Given the description of an element on the screen output the (x, y) to click on. 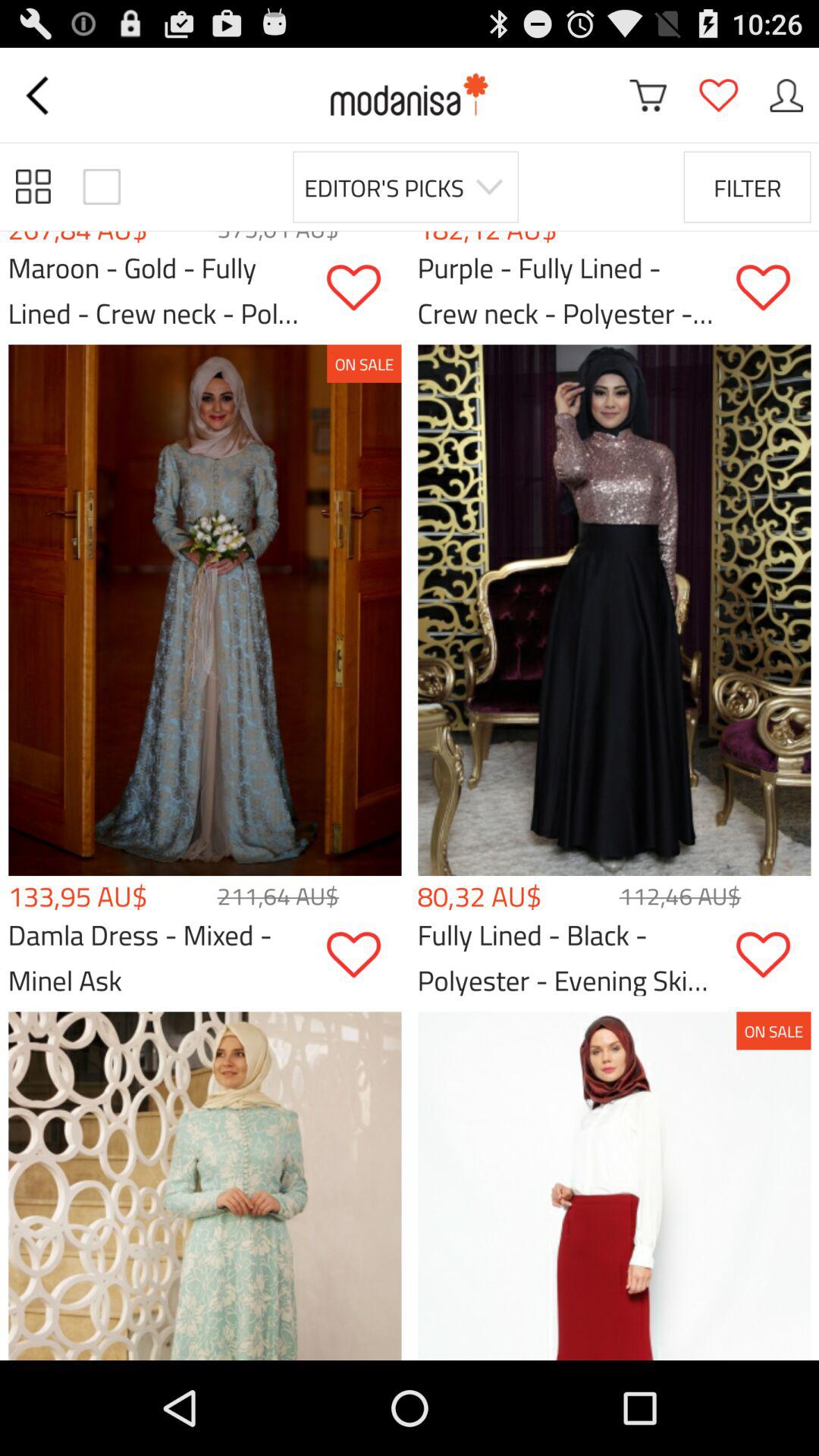
open favorites (718, 95)
